Given the description of an element on the screen output the (x, y) to click on. 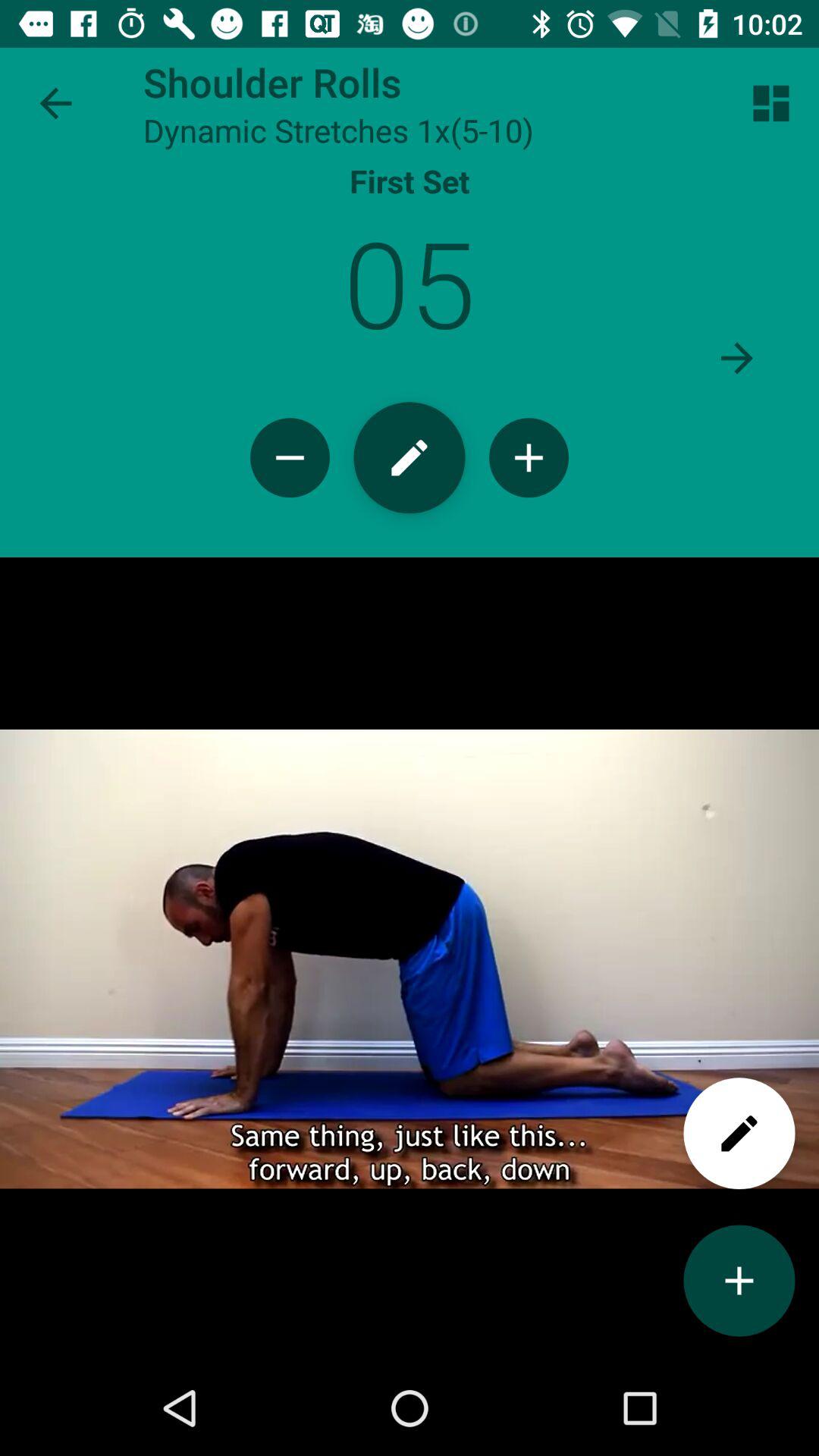
go to next stage (737, 358)
